Given the description of an element on the screen output the (x, y) to click on. 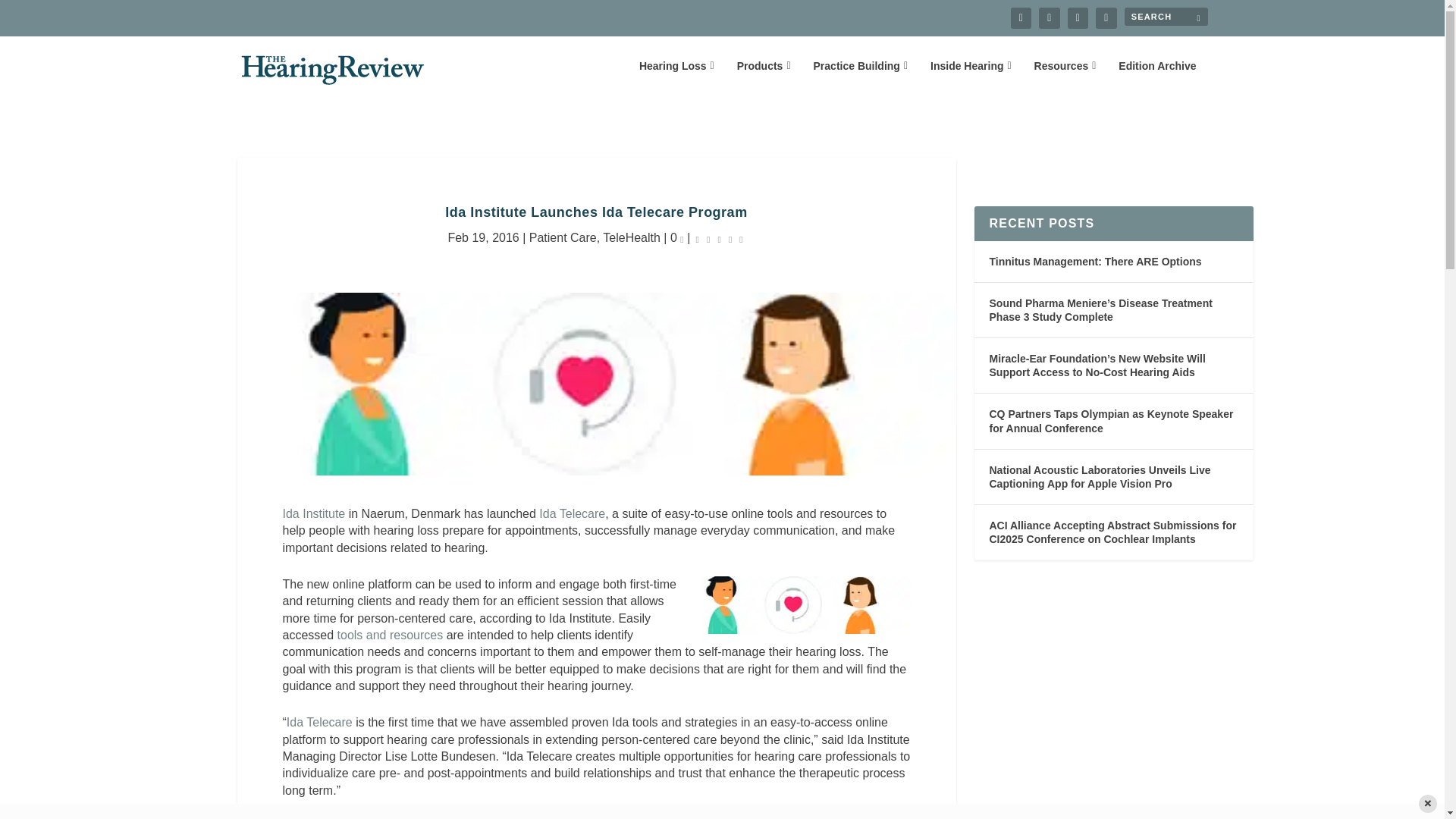
Search for: (1165, 16)
Rating: 0.00 (719, 238)
Ida Telecare, first time appointment (319, 721)
Hearing Loss (676, 77)
Products (763, 77)
Ida Institute (313, 513)
Ida Telecare (571, 513)
Edition Archive (1156, 77)
Inside Hearing (970, 77)
Practice Building (860, 77)
Resources (1064, 77)
HR coverage of Ida Tools (390, 634)
